Given the description of an element on the screen output the (x, y) to click on. 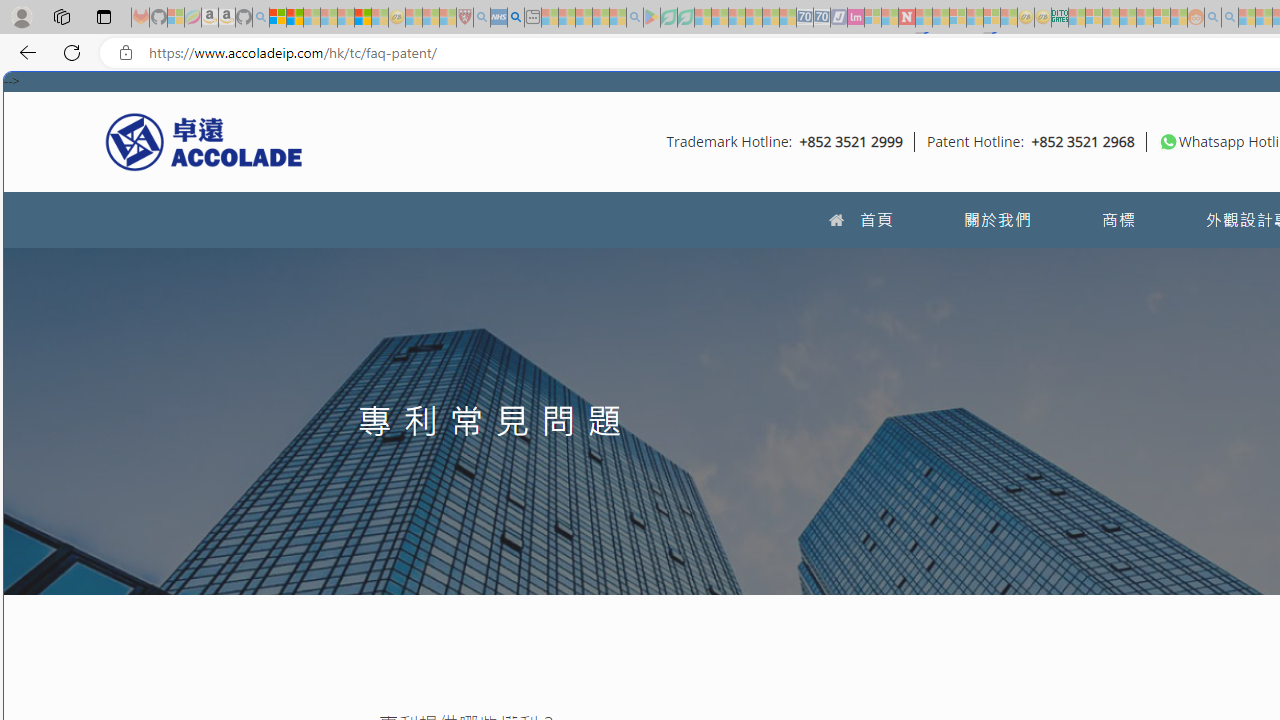
Bluey: Let's Play! - Apps on Google Play - Sleeping (651, 17)
Jobs - lastminute.com Investor Portal - Sleeping (855, 17)
